Given the description of an element on the screen output the (x, y) to click on. 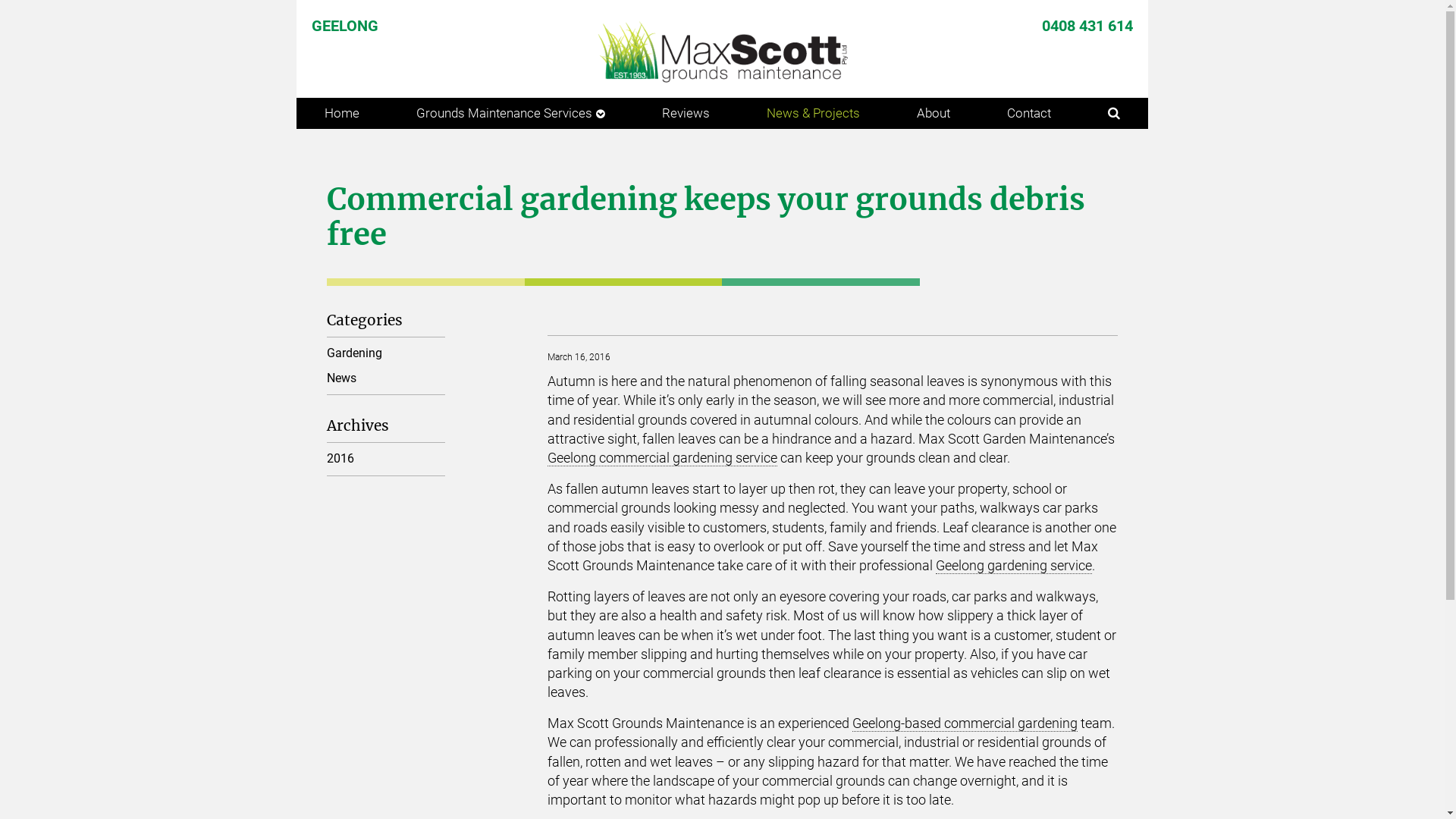
Reviews Element type: text (685, 112)
Gardening Element type: text (385, 353)
Home Element type: text (342, 112)
About Element type: text (933, 112)
2016 Element type: text (385, 458)
News Element type: text (385, 378)
Geelong gardening service Element type: text (1013, 565)
Contact Element type: text (1028, 112)
News & Projects Element type: text (813, 112)
Geelong commercial gardening service Element type: text (662, 457)
Geelong-based commercial gardening Element type: text (964, 723)
Grounds Maintenance Services Element type: text (510, 112)
